Given the description of an element on the screen output the (x, y) to click on. 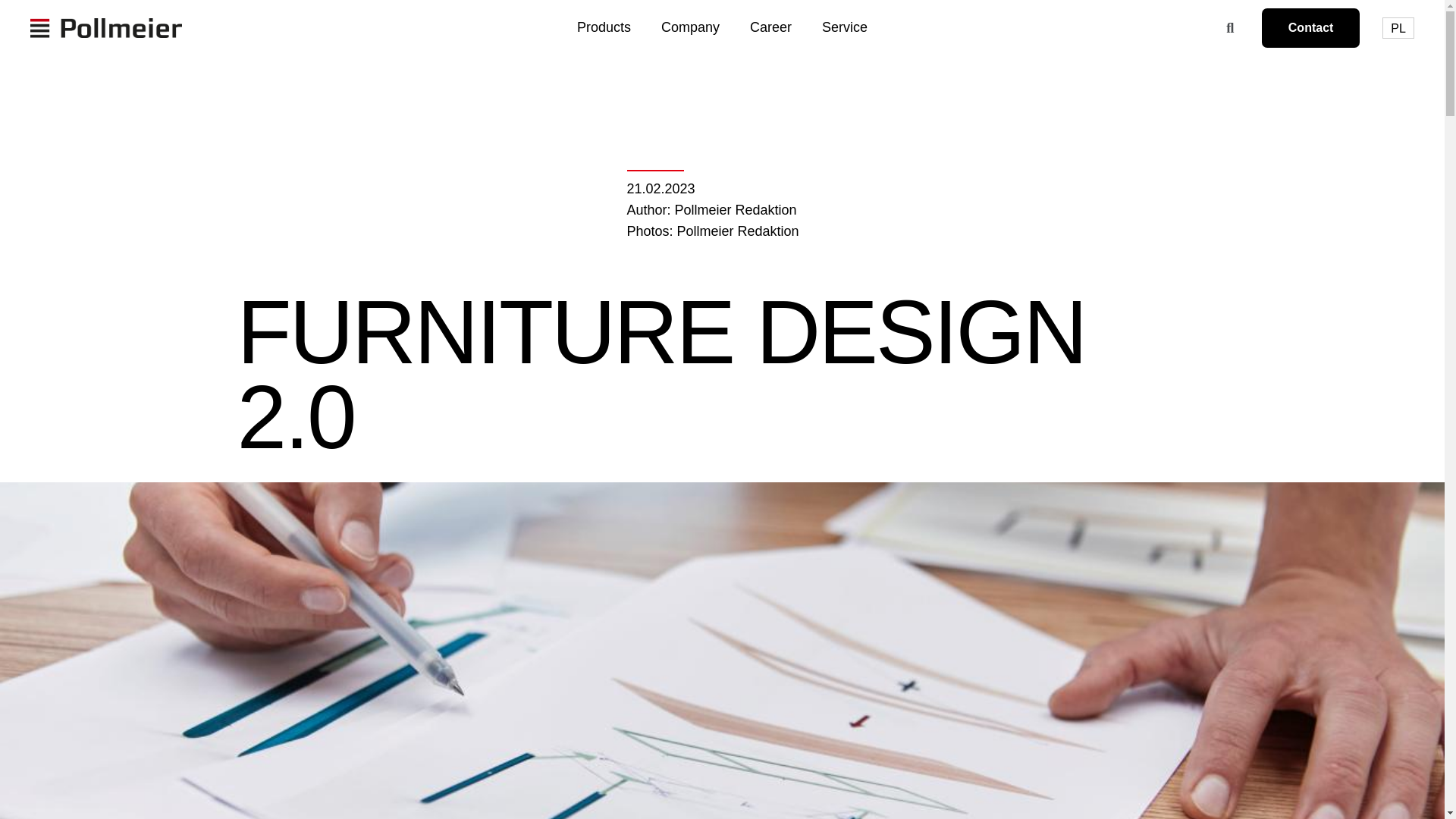
Contact (1310, 27)
Company (690, 27)
PL (1397, 28)
Career (770, 27)
Products (603, 27)
Service (844, 27)
